Given the description of an element on the screen output the (x, y) to click on. 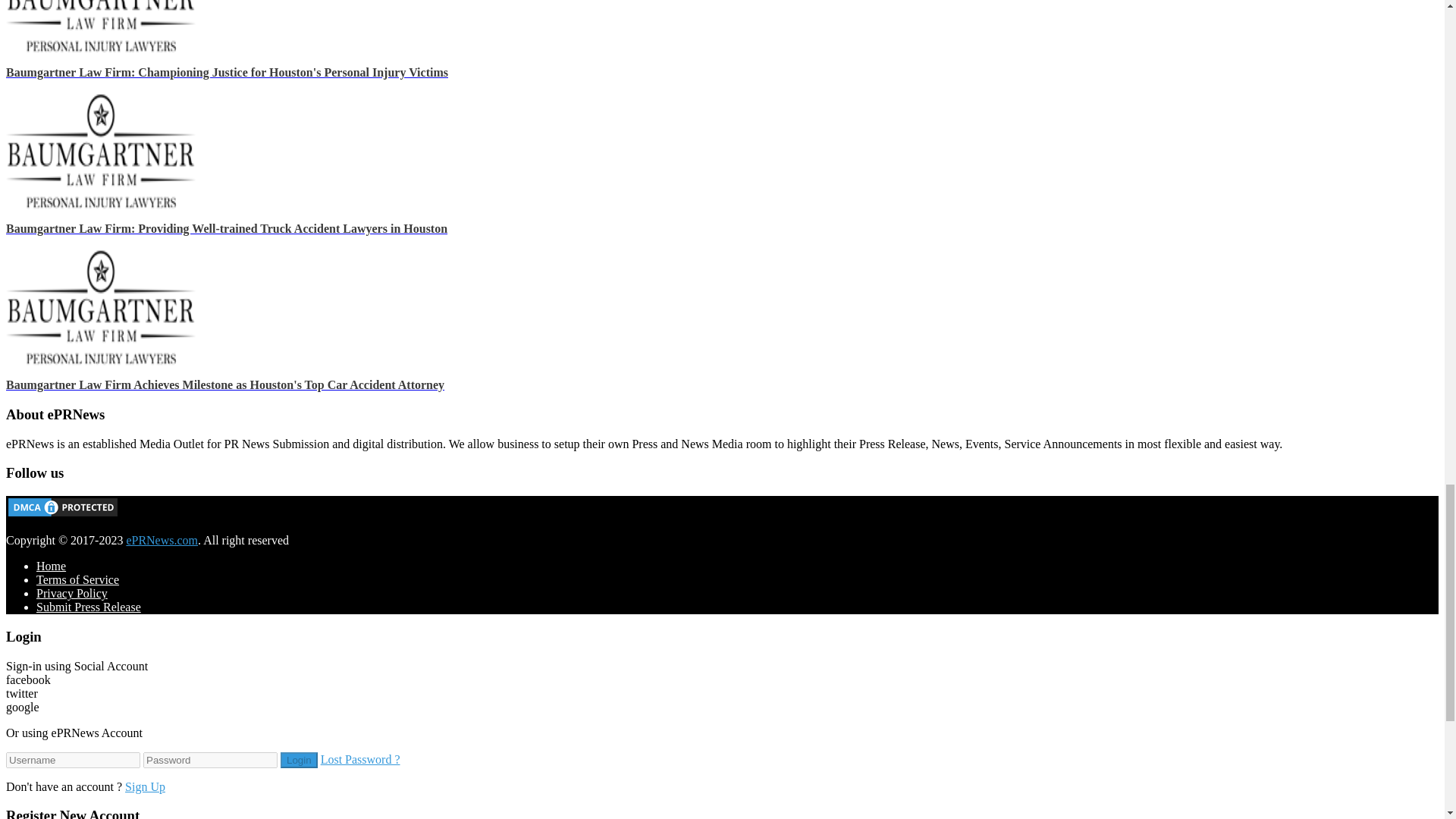
Login (299, 760)
DMCA.com Protection Status (62, 513)
